Given the description of an element on the screen output the (x, y) to click on. 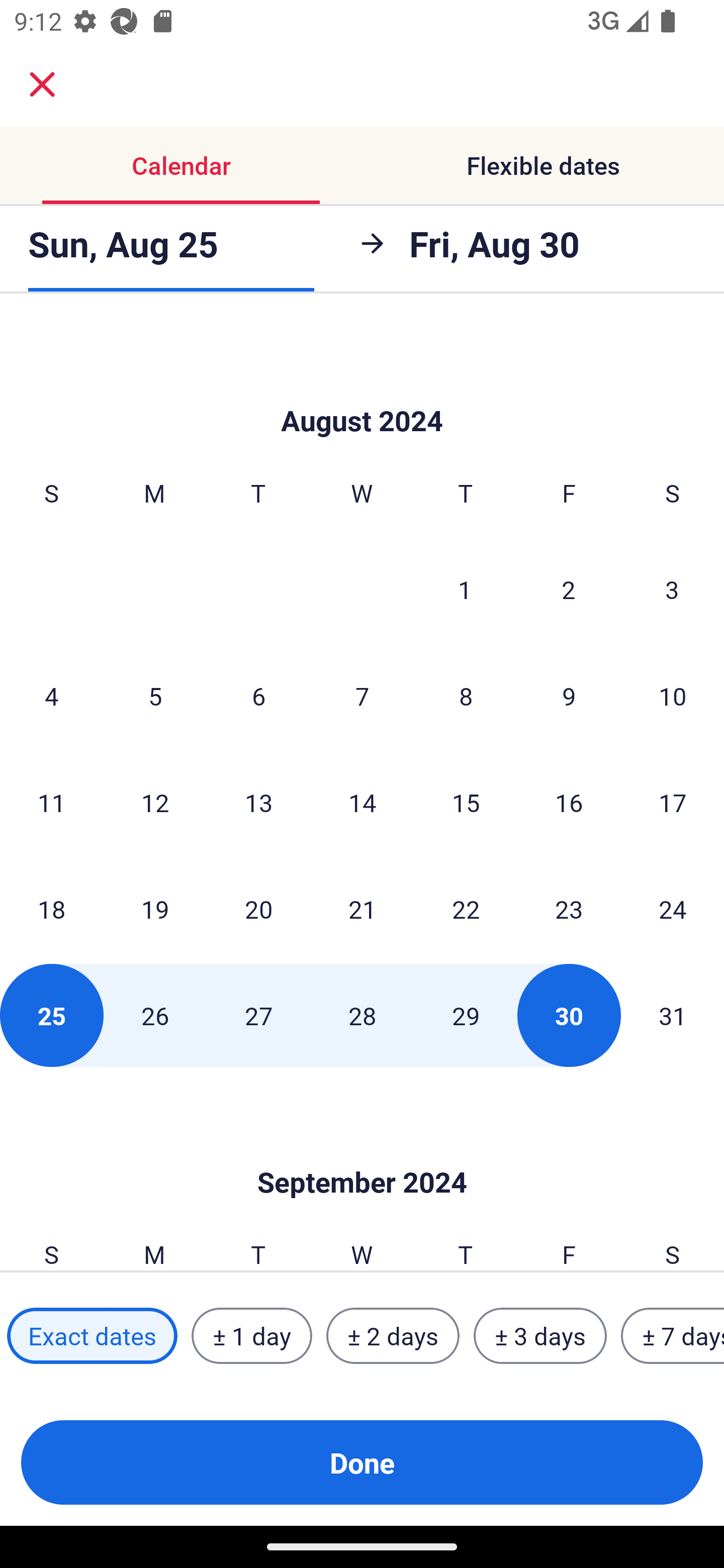
close. (42, 84)
Flexible dates (542, 164)
Skip to Done (362, 390)
1 Thursday, August 1, 2024 (464, 589)
2 Friday, August 2, 2024 (568, 589)
3 Saturday, August 3, 2024 (672, 589)
4 Sunday, August 4, 2024 (51, 695)
5 Monday, August 5, 2024 (155, 695)
6 Tuesday, August 6, 2024 (258, 695)
7 Wednesday, August 7, 2024 (362, 695)
8 Thursday, August 8, 2024 (465, 695)
9 Friday, August 9, 2024 (569, 695)
10 Saturday, August 10, 2024 (672, 695)
11 Sunday, August 11, 2024 (51, 802)
12 Monday, August 12, 2024 (155, 802)
13 Tuesday, August 13, 2024 (258, 802)
14 Wednesday, August 14, 2024 (362, 802)
15 Thursday, August 15, 2024 (465, 802)
16 Friday, August 16, 2024 (569, 802)
17 Saturday, August 17, 2024 (672, 802)
18 Sunday, August 18, 2024 (51, 908)
19 Monday, August 19, 2024 (155, 908)
20 Tuesday, August 20, 2024 (258, 908)
21 Wednesday, August 21, 2024 (362, 908)
22 Thursday, August 22, 2024 (465, 908)
23 Friday, August 23, 2024 (569, 908)
24 Saturday, August 24, 2024 (672, 908)
31 Saturday, August 31, 2024 (672, 1015)
Skip to Done (362, 1152)
Exact dates (92, 1335)
± 1 day (251, 1335)
± 2 days (392, 1335)
± 3 days (539, 1335)
± 7 days (672, 1335)
Done (361, 1462)
